Given the description of an element on the screen output the (x, y) to click on. 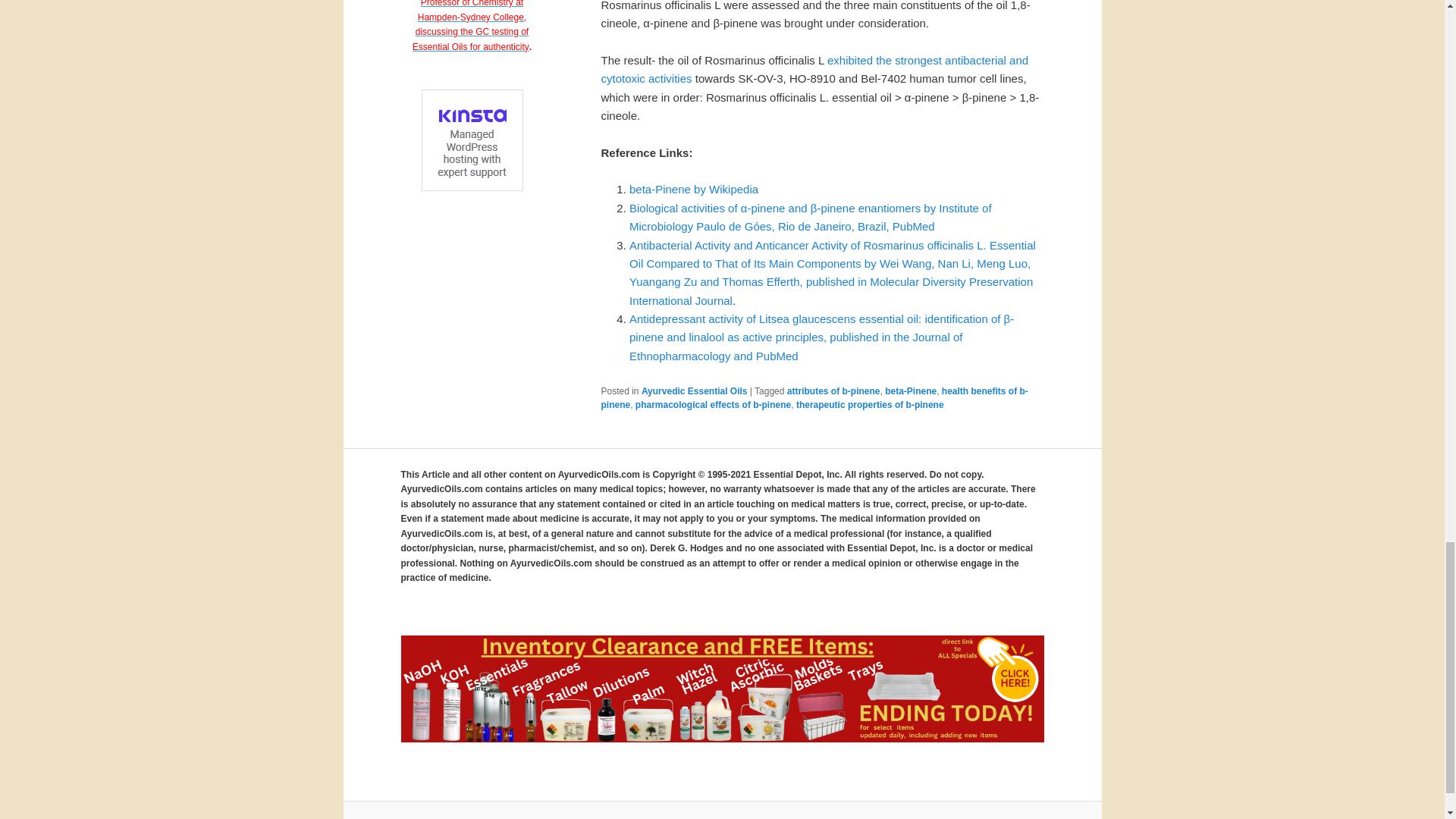
therapeutic properties of b-pinene (869, 404)
pharmacological effects of b-pinene (712, 404)
beta-Pinene (910, 390)
beta-Pinene by Wikipedia (693, 188)
attributes of b-pinene (833, 390)
Ayurvedic Essential Oils (695, 390)
health benefits of b-pinene (813, 397)
